Given the description of an element on the screen output the (x, y) to click on. 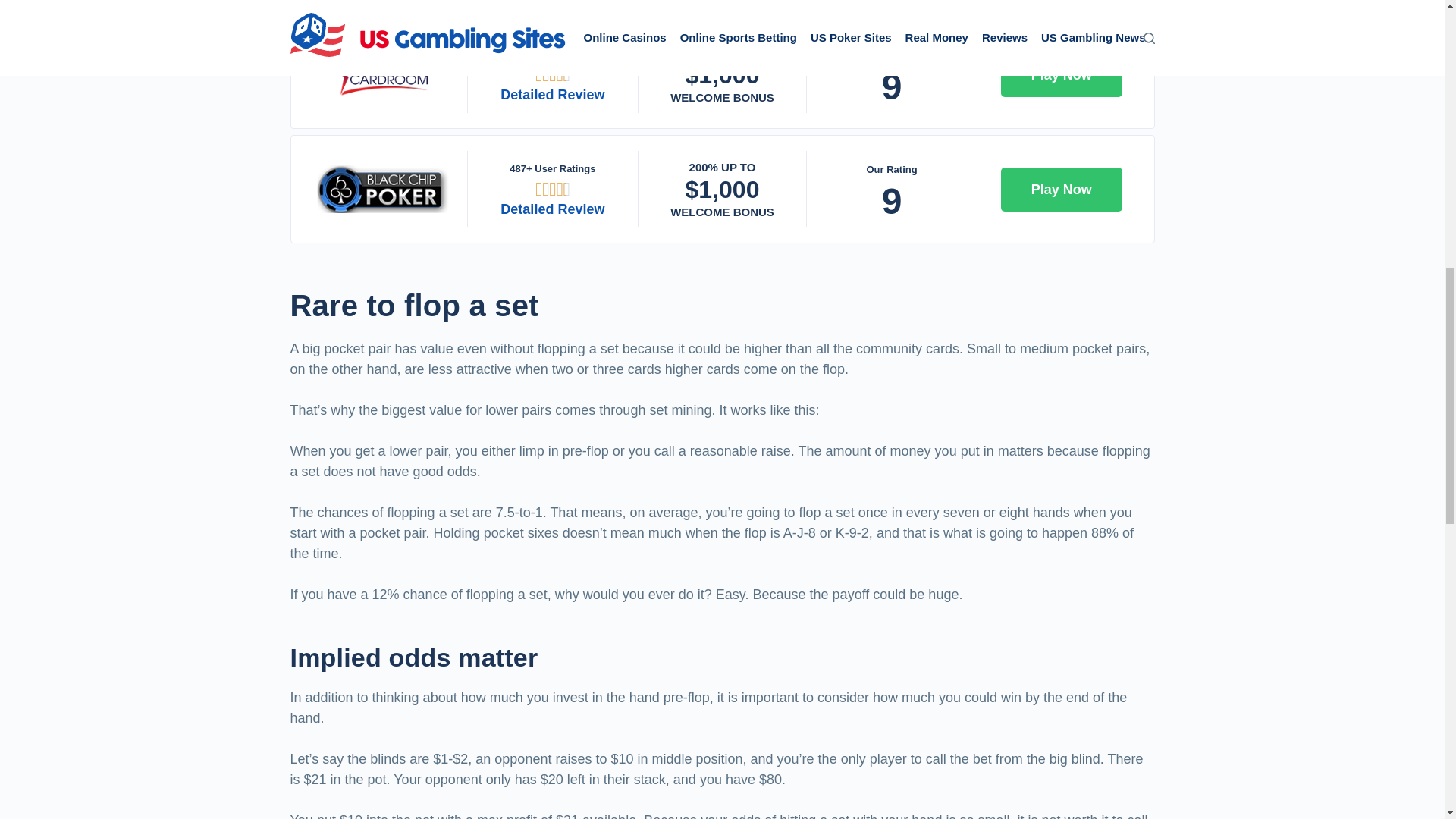
Play Now (1061, 189)
Detailed Review (552, 209)
Detailed Review (552, 94)
Play Now (1061, 75)
